Given the description of an element on the screen output the (x, y) to click on. 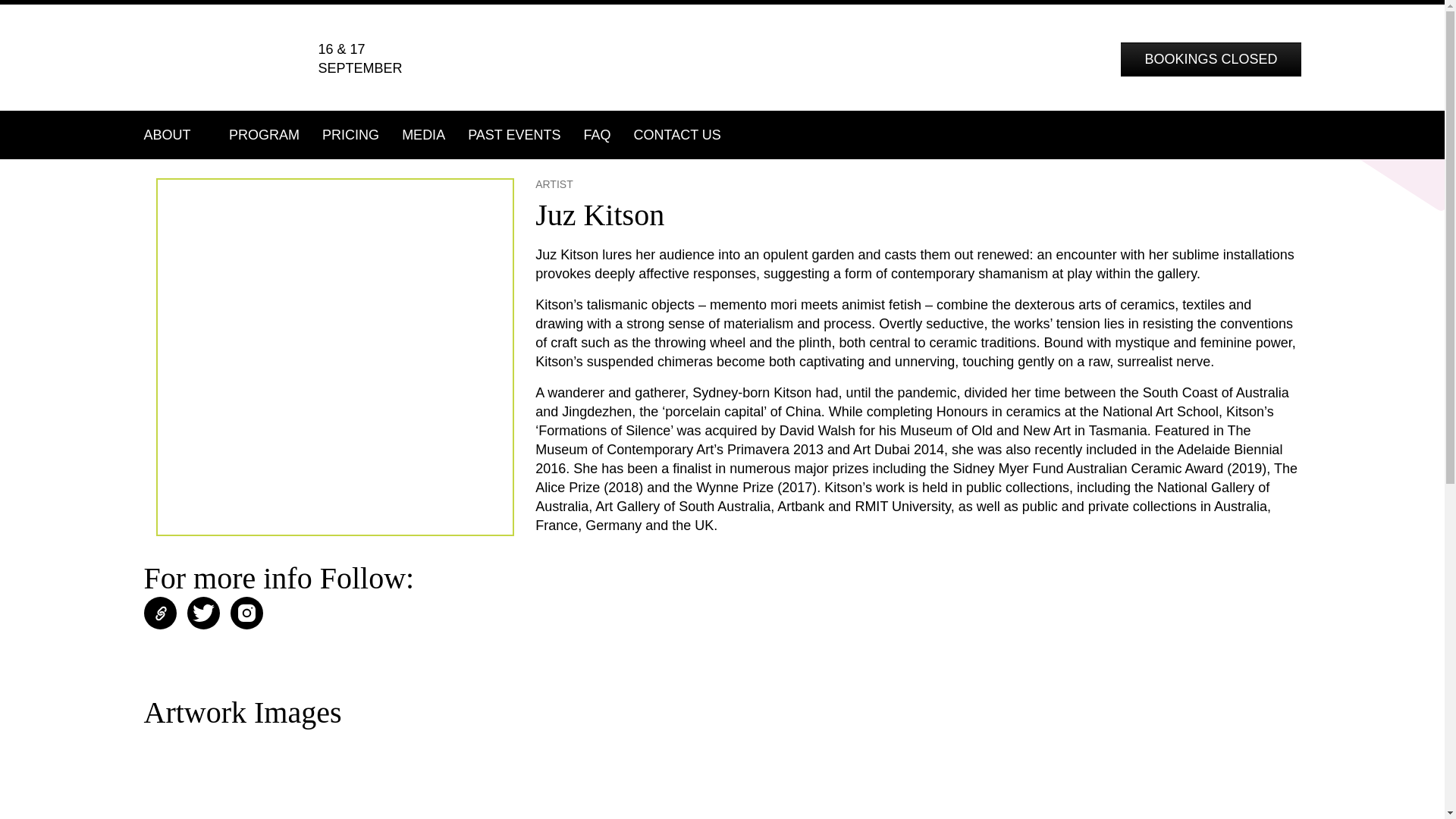
FAQ (597, 135)
ABOUT (181, 135)
PROGRAM (263, 135)
CONTACT US (677, 135)
MEDIA (423, 135)
PAST EVENTS (514, 135)
BOOKINGS CLOSED (1210, 59)
PRICING (350, 135)
